Given the description of an element on the screen output the (x, y) to click on. 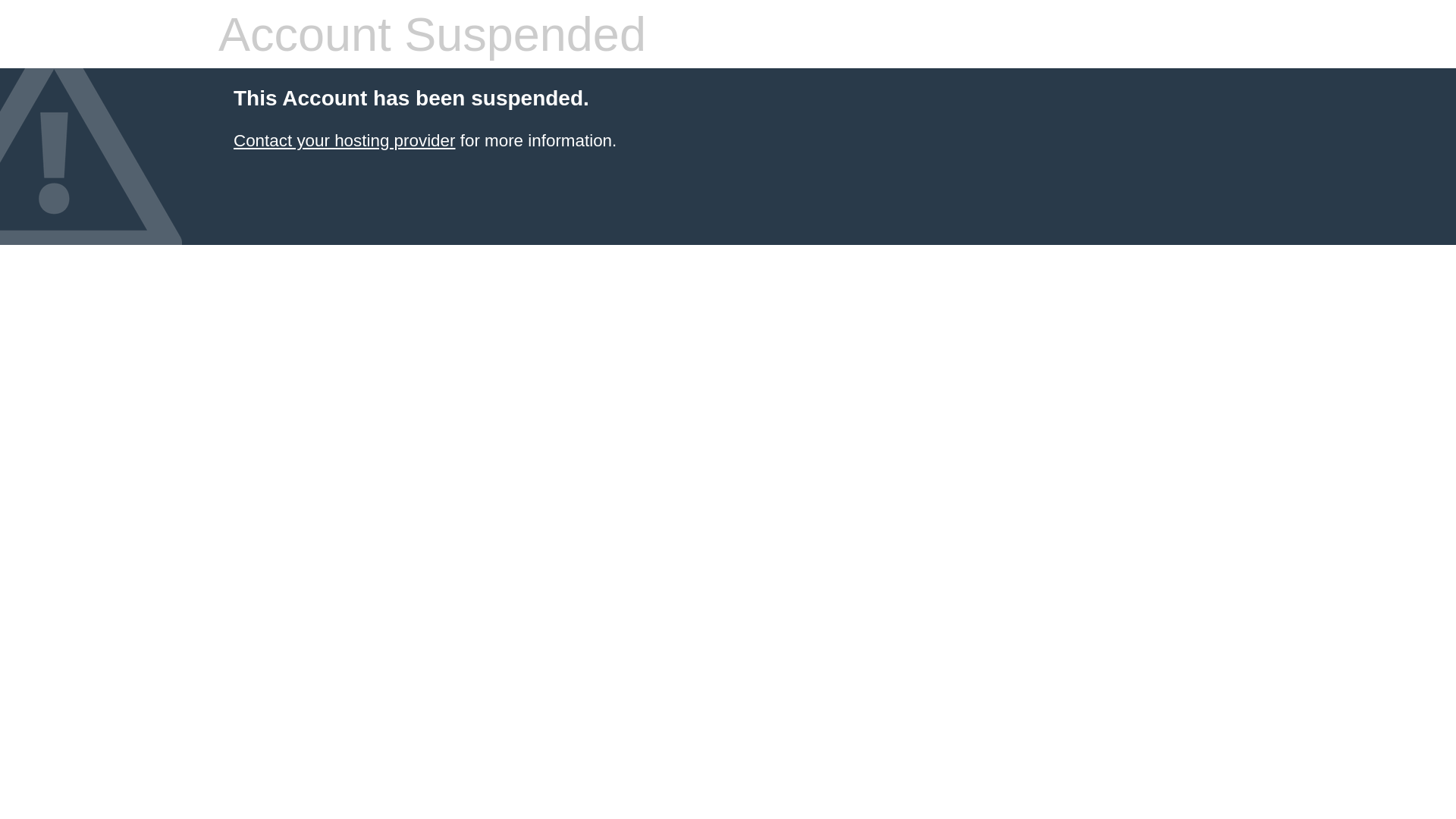
Contact your hosting provider Element type: text (344, 140)
